Given the description of an element on the screen output the (x, y) to click on. 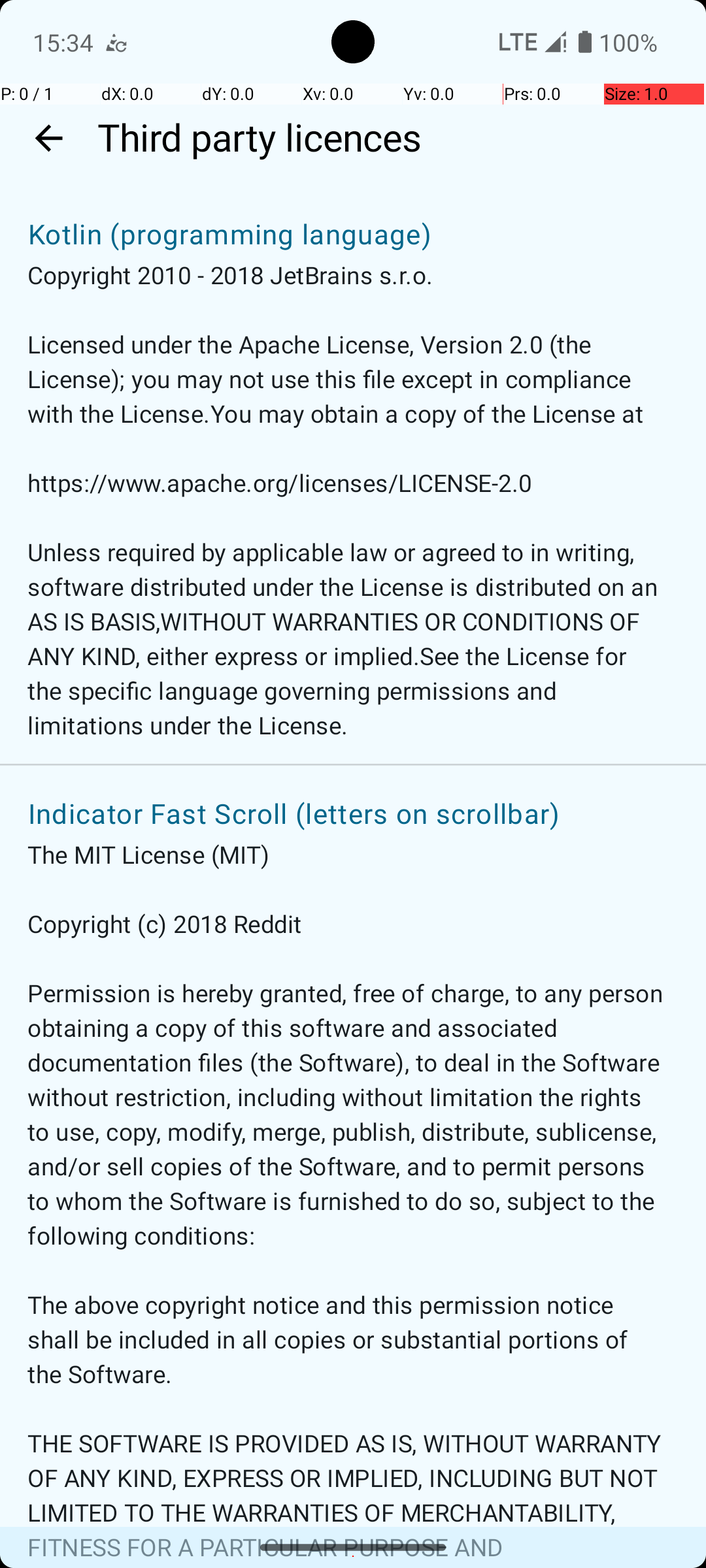
Third party licences Element type: android.widget.TextView (394, 138)
Kotlin (programming language) Element type: android.widget.TextView (229, 226)
Copyright 2010 - 2018 JetBrains s.r.o.

Licensed under the Apache License, Version 2.0 (the License); you may not use this file except in compliance with the License.You may obtain a copy of the License at

https://www.apache.org/licenses/LICENSE-2.0

Unless required by applicable law or agreed to in writing, software distributed under the License is distributed on an AS IS BASIS,WITHOUT WARRANTIES OR CONDITIONS OF ANY KIND, either express or implied.See the License for the specific language governing permissions and limitations under the License. Element type: android.widget.TextView (345, 500)
Indicator Fast Scroll (letters on scrollbar) Element type: android.widget.TextView (293, 805)
The MIT License (MIT)

Copyright (c) 2018 Reddit

Permission is hereby granted, free of charge, to any person obtaining a copy of this software and associated documentation files (the Software), to deal in the Software without restriction, including without limitation the rights to use, copy, modify, merge, publish, distribute, sublicense, and/or sell copies of the Software, and to permit persons to whom the Software is furnished to do so, subject to the following conditions: 

The above copyright notice and this permission notice shall be included in all copies or substantial portions of the Software. 

THE SOFTWARE IS PROVIDED AS IS, WITHOUT WARRANTY OF ANY KIND, EXPRESS OR IMPLIED, INCLUDING BUT NOT LIMITED TO THE WARRANTIES OF MERCHANTABILITY, FITNESS FOR A PARTICULAR PURPOSE AND NONINFRINGEMENT. IN NO EVENT SHALL THE AUTHORS OR COPYRIGHT HOLDERS BE LIABLE FOR ANY CLAIM, DAMAGES OR OTHER LIABILITY, WHETHER IN AN ACTION OF CONTRACT, TORT OR OTHERWISE, ARISING FROM, OUT OF OR IN CONNECTION WITH THE SOFTWARE OR THE USE OR OTHER DEALINGS IN THE SOFTWARE. Element type: android.widget.TextView (345, 1203)
